Given the description of an element on the screen output the (x, y) to click on. 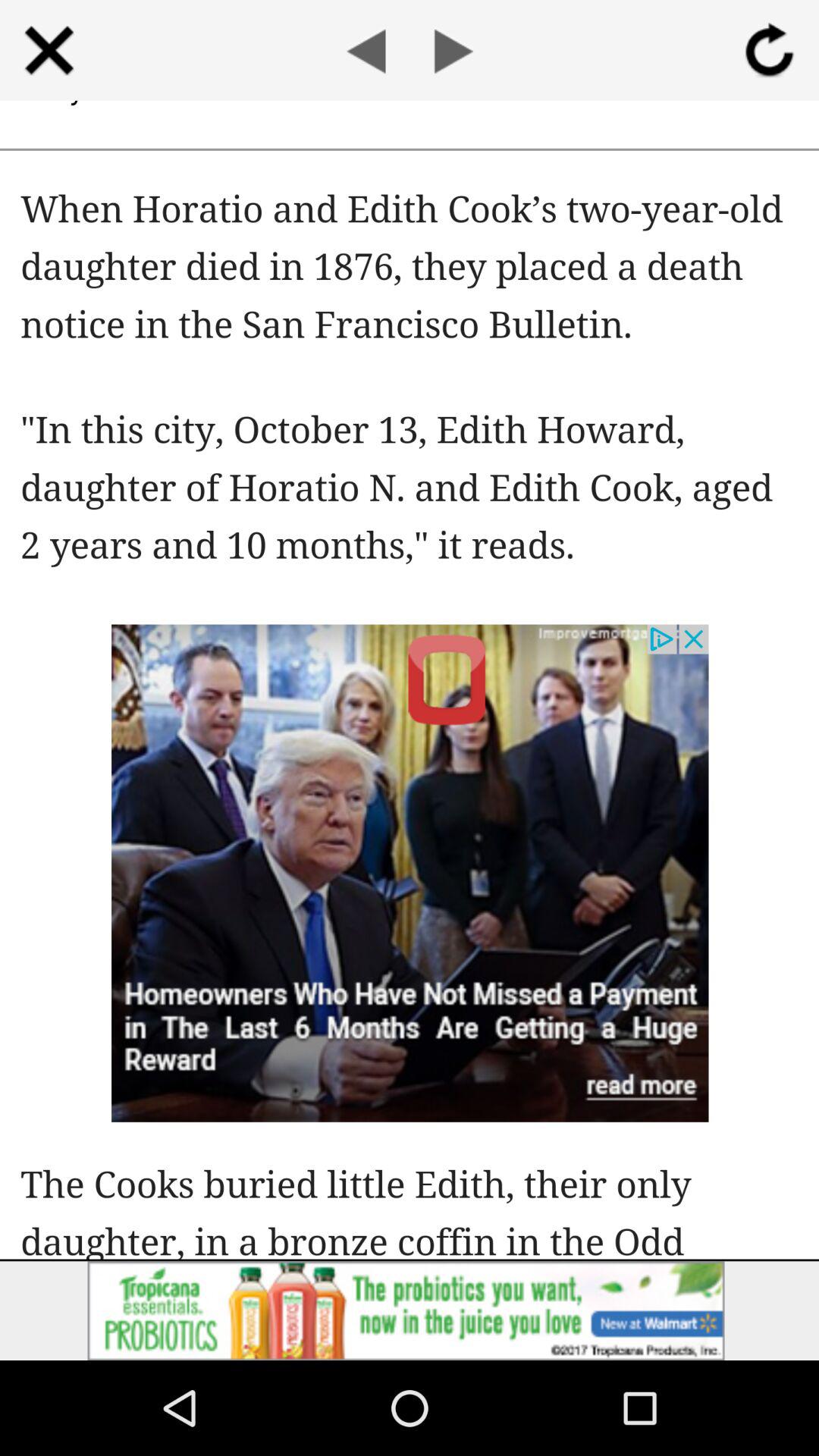
rotate simpal (769, 49)
